Given the description of an element on the screen output the (x, y) to click on. 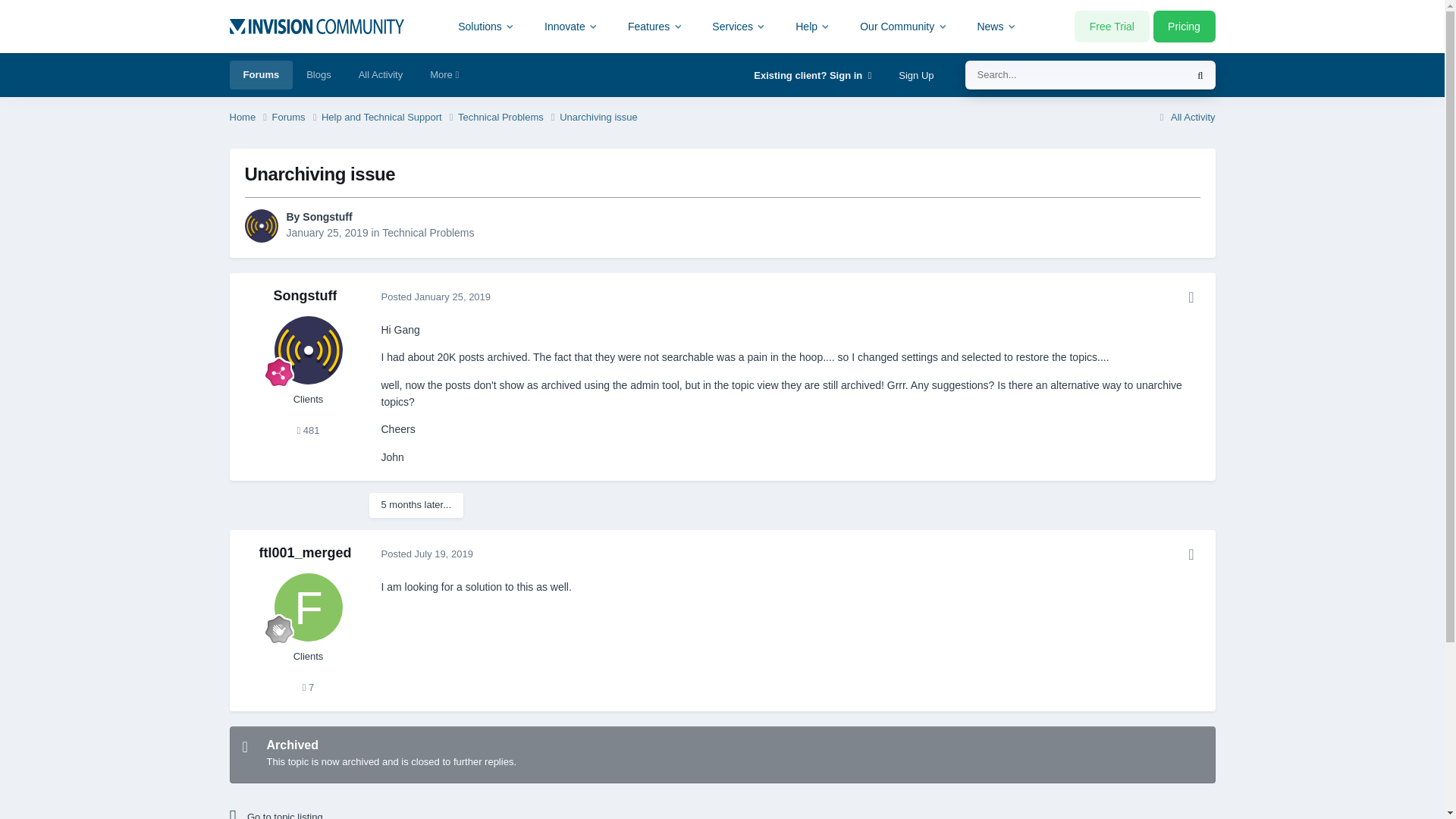
Solutions (486, 26)
Features (654, 26)
Home (249, 117)
Innovate (570, 26)
Help (812, 26)
Services (738, 26)
